Given the description of an element on the screen output the (x, y) to click on. 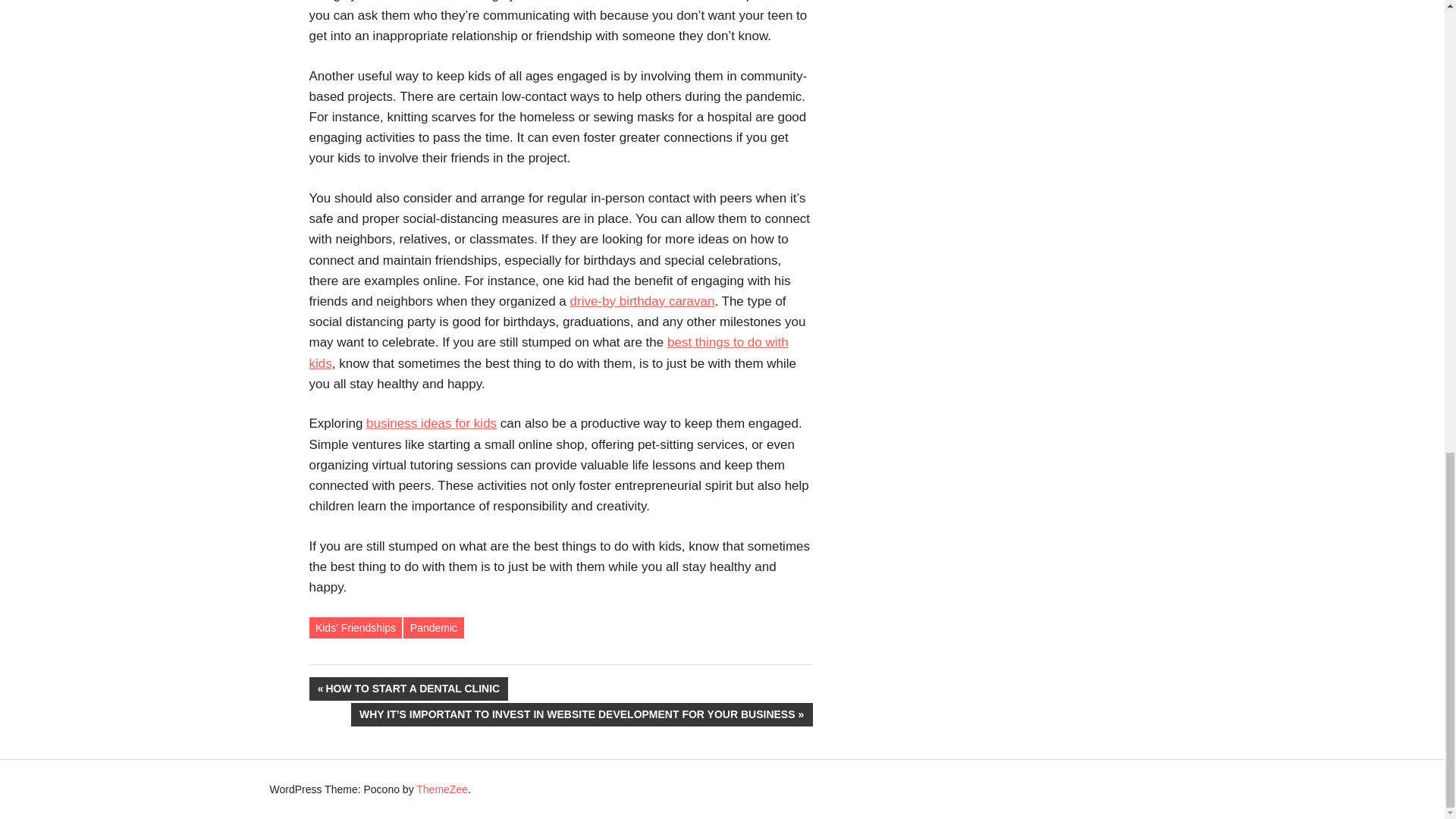
Pandemic (433, 627)
best things to do with kids (548, 352)
ThemeZee (441, 788)
drive-by birthday caravan (642, 301)
business ideas for kids (431, 423)
Kids' Friendships (355, 627)
